Given the description of an element on the screen output the (x, y) to click on. 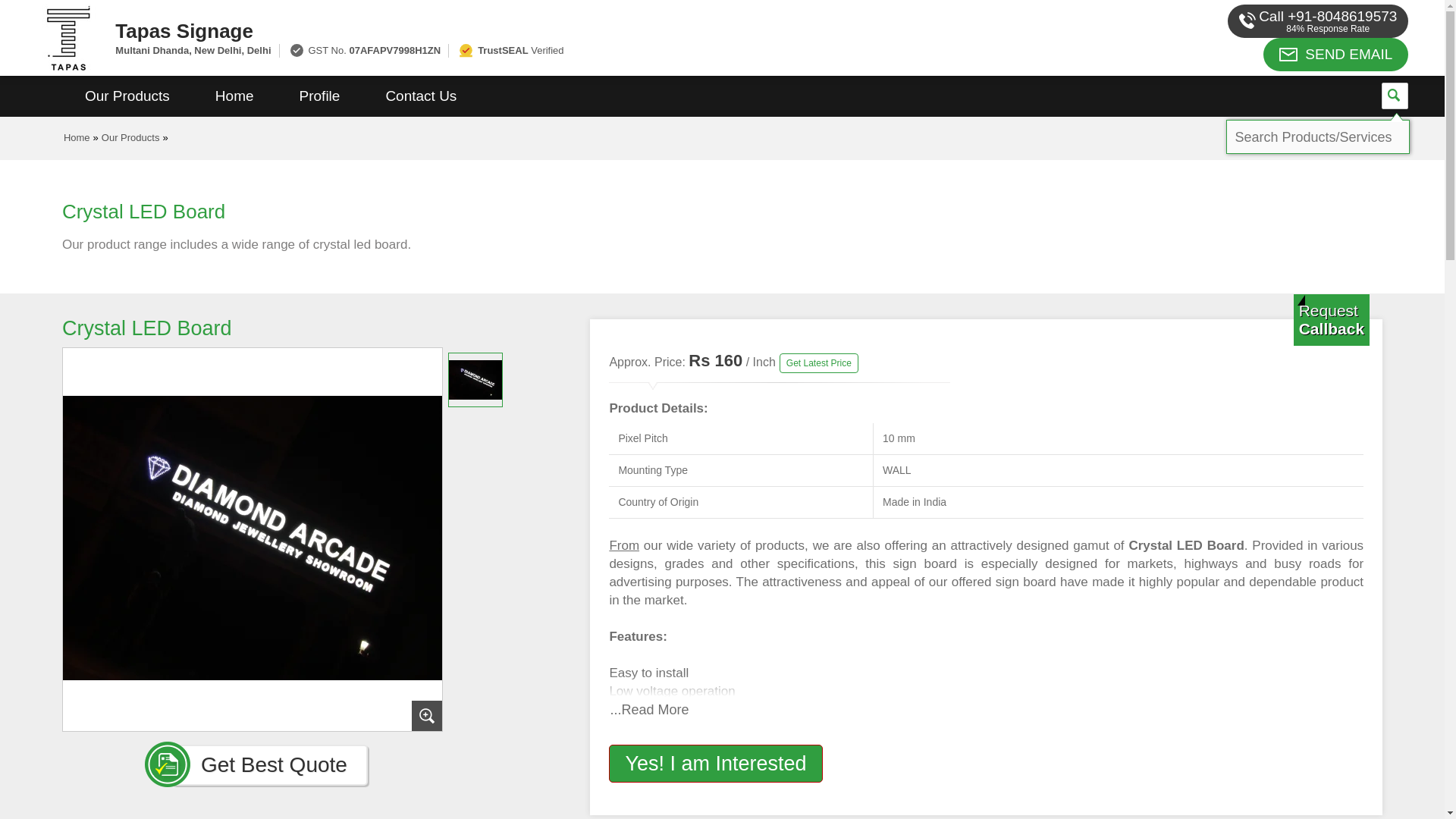
Get a Call from us (1332, 319)
Tapas Signage (552, 31)
Our Products (127, 96)
